Given the description of an element on the screen output the (x, y) to click on. 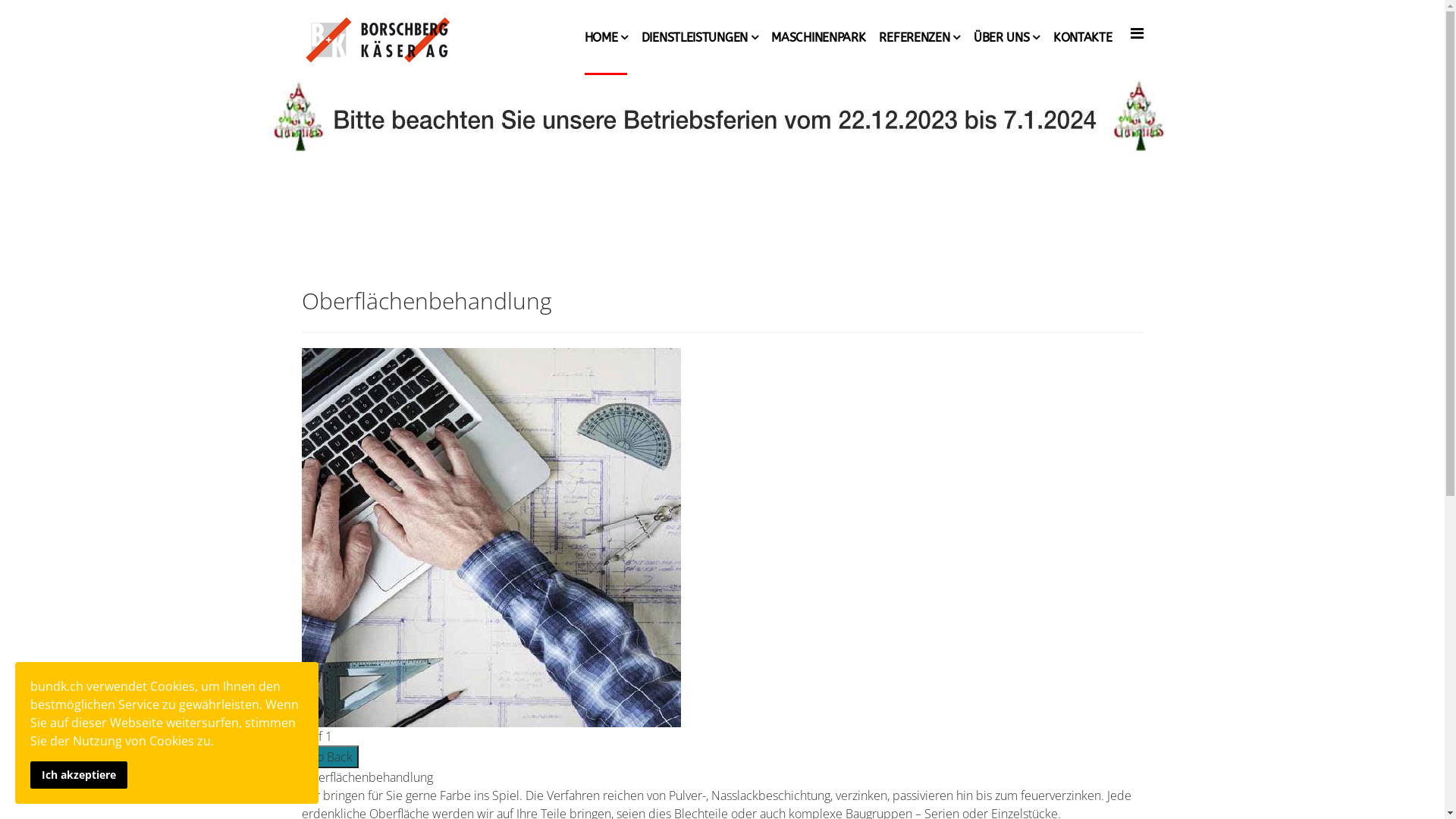
Menu Element type: hover (1135, 32)
Go Back Element type: text (329, 756)
Ich akzeptiere Element type: text (78, 774)
KONTAKTE Element type: text (1082, 37)
MASCHINENPARK Element type: text (818, 37)
DIENSTLEISTUNGEN Element type: text (699, 37)
HOME Element type: text (605, 37)
REFERENZEN Element type: text (919, 37)
